Given the description of an element on the screen output the (x, y) to click on. 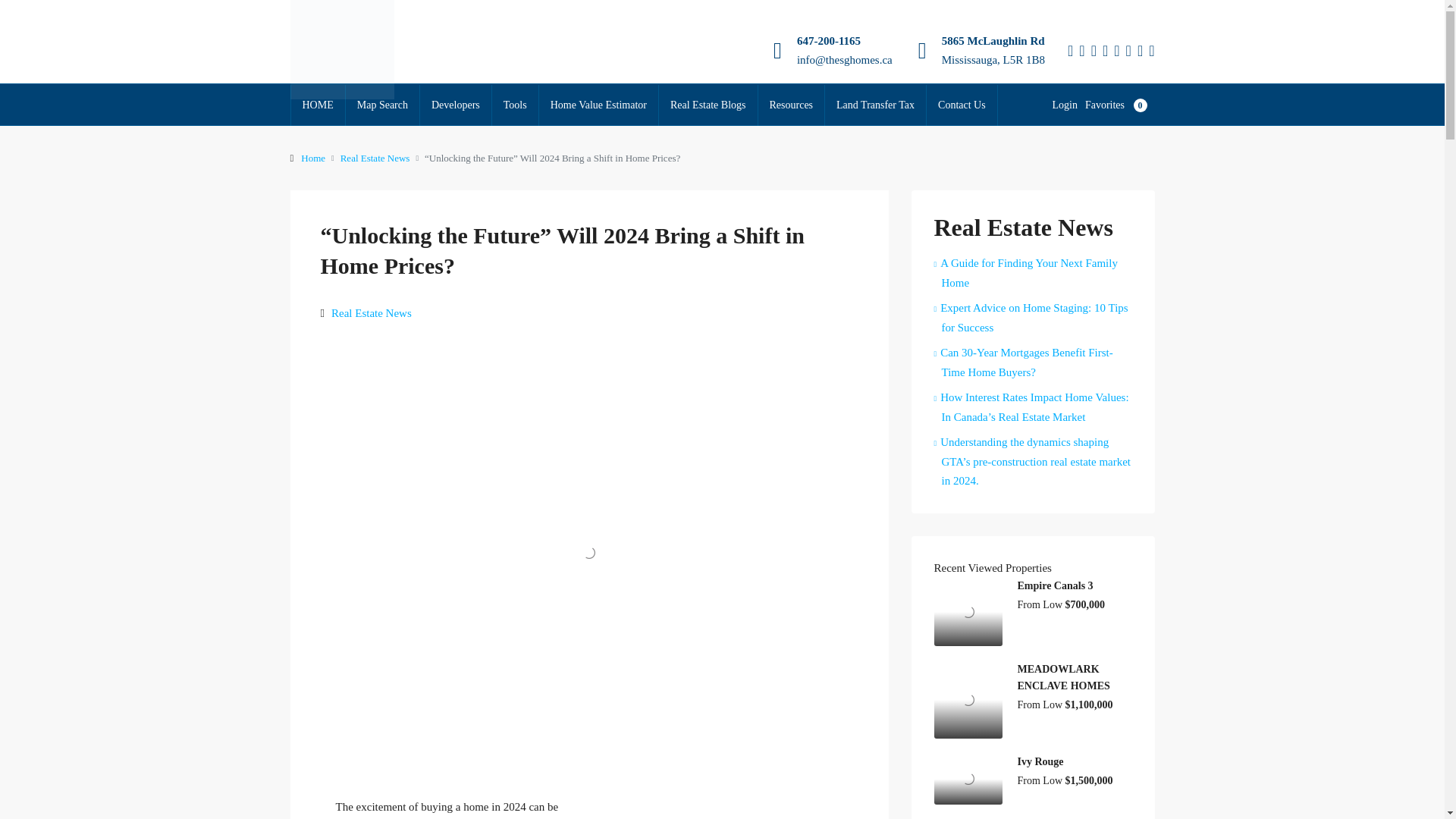
Favorites 0 (1119, 104)
Login (1067, 104)
Resources (791, 105)
Tools (515, 105)
Map Search (382, 105)
Land Transfer Tax (875, 105)
647-200-1165 (828, 40)
Contact Us (961, 105)
Developers (456, 105)
Real Estate Blogs (708, 105)
Home Value Estimator (598, 105)
HOME (318, 105)
